Given the description of an element on the screen output the (x, y) to click on. 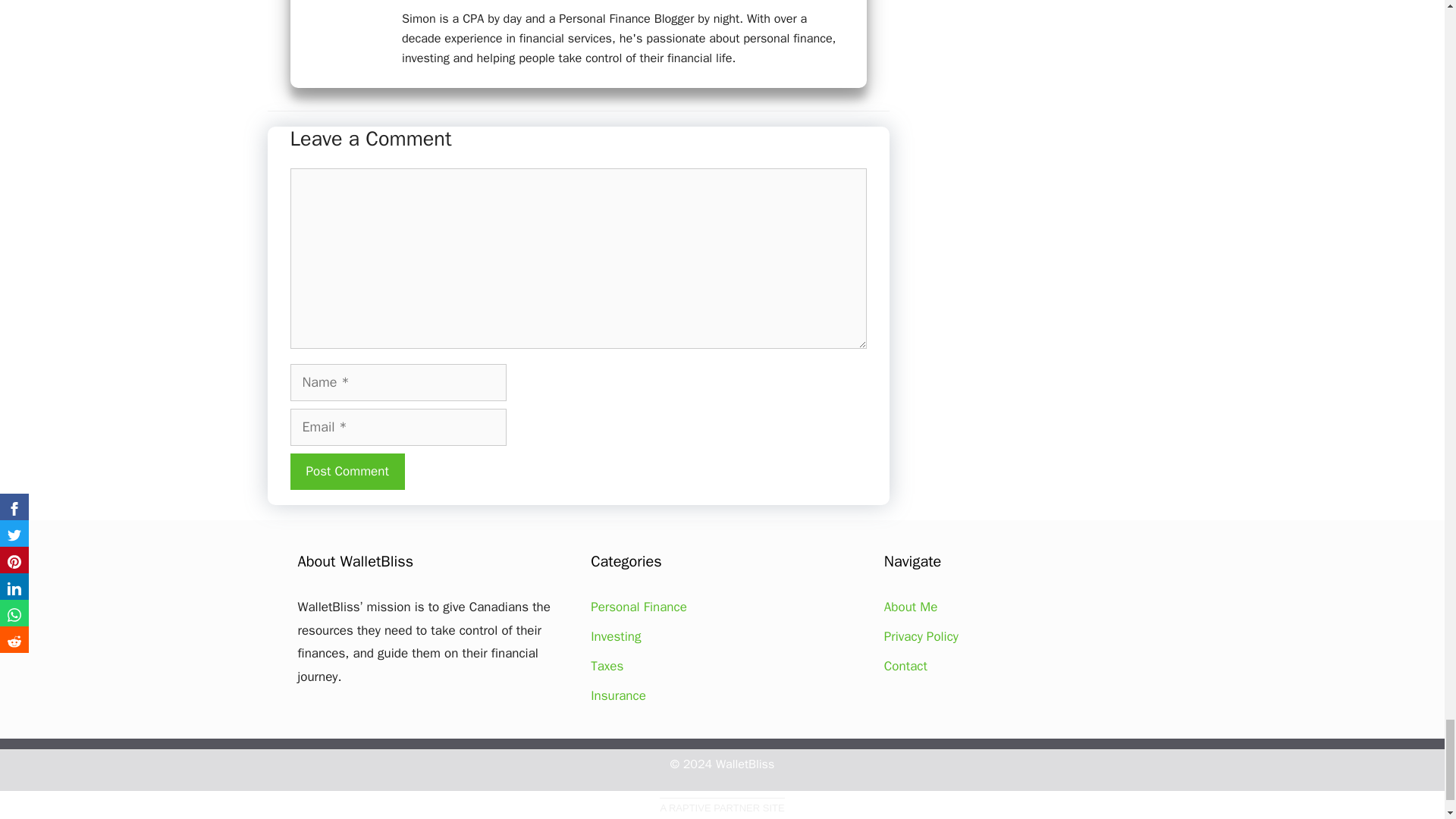
Post Comment (346, 471)
